Given the description of an element on the screen output the (x, y) to click on. 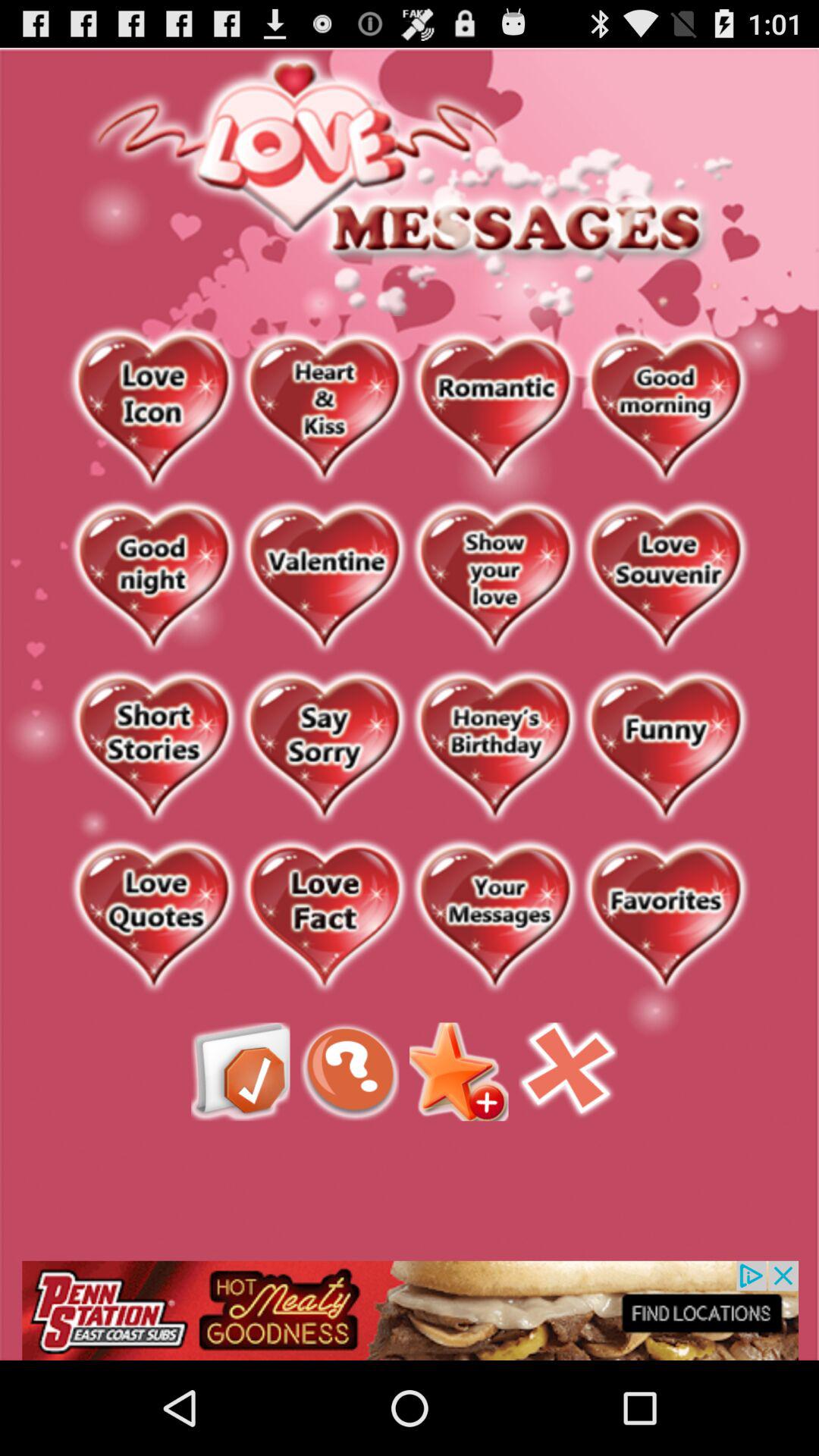
sends a valentine message (323, 578)
